Given the description of an element on the screen output the (x, y) to click on. 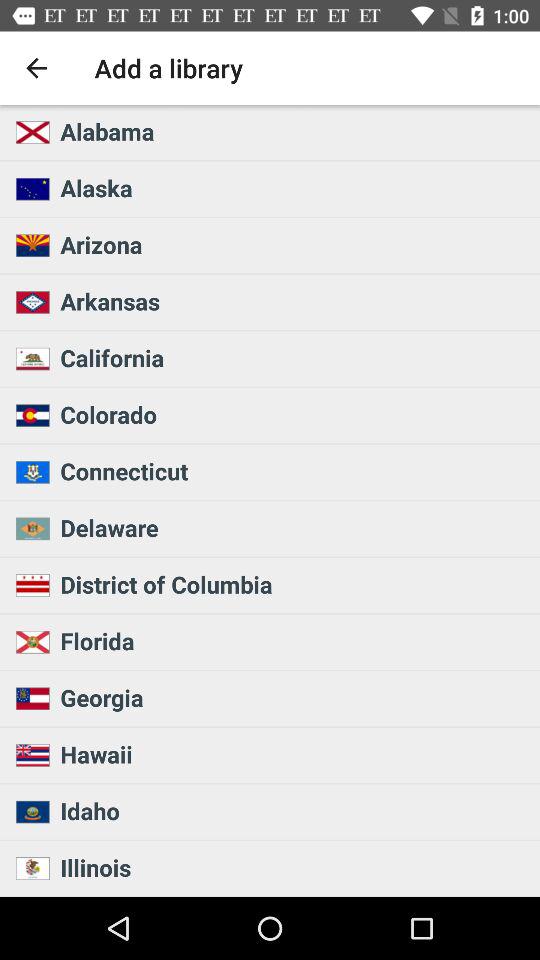
press the item above the florida (294, 584)
